Given the description of an element on the screen output the (x, y) to click on. 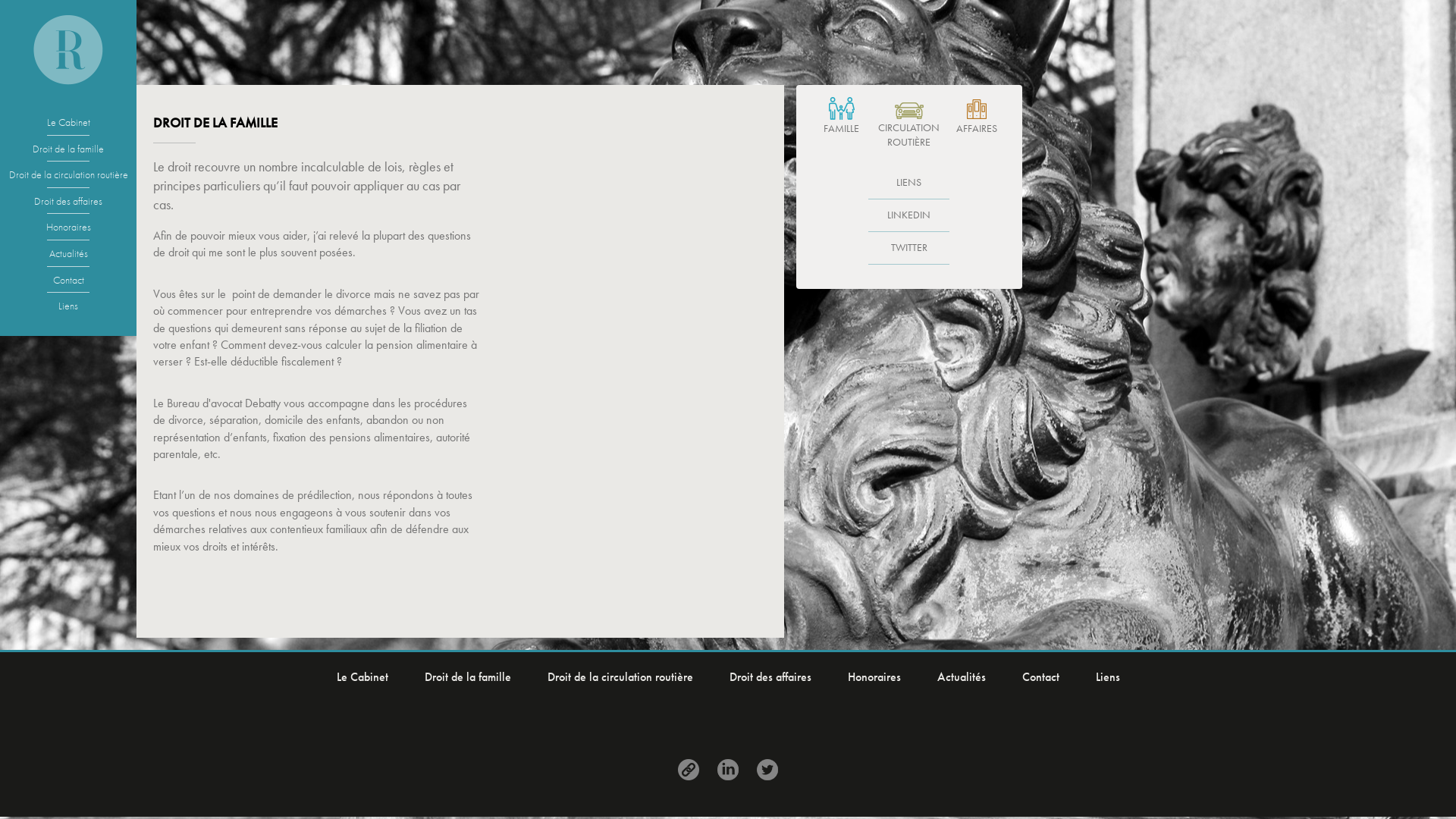
Contact Element type: text (1040, 676)
Le Cabinet Element type: text (362, 676)
FAMILLE Element type: text (841, 116)
TWITTER Element type: text (908, 248)
Liens Element type: text (68, 305)
LIENS Element type: text (908, 182)
Droit de la famille Element type: text (67, 153)
Droit des affaires Element type: text (770, 676)
Honoraires Element type: text (874, 676)
AFFAIRES Element type: text (976, 116)
Twitter Element type: text (767, 768)
Honoraires Element type: text (67, 231)
Droit de la famille Element type: text (467, 676)
Droit des affaires Element type: text (68, 206)
Linkedin Element type: text (727, 768)
Le Cabinet Element type: text (68, 127)
LINKEDIN Element type: text (908, 215)
Contact Element type: text (68, 285)
Liens Element type: text (1106, 676)
Liens Element type: text (688, 768)
